Given the description of an element on the screen output the (x, y) to click on. 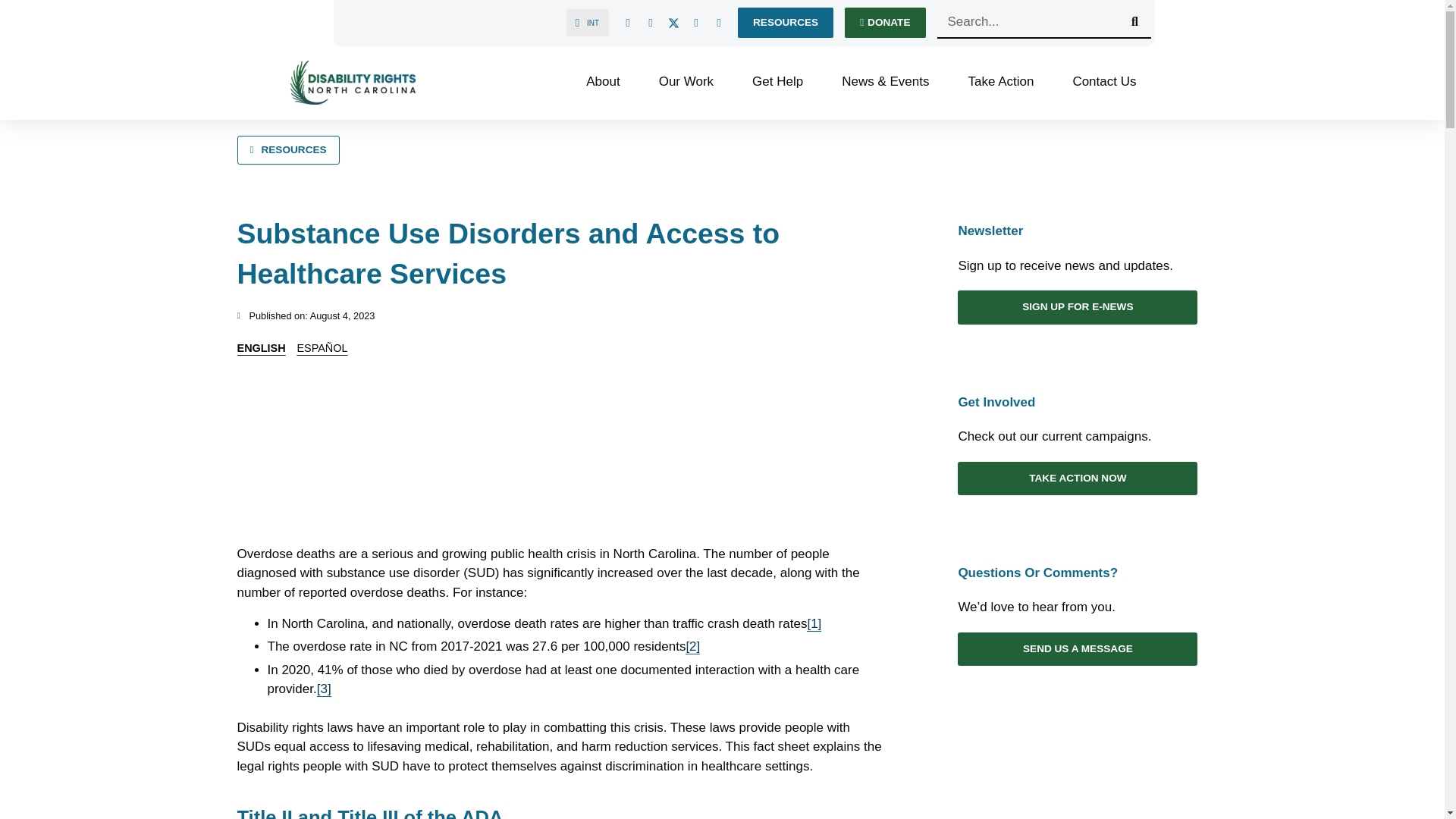
About (609, 81)
Our Work (692, 81)
INT (585, 20)
DONATE (884, 22)
Get Help (783, 81)
RESOURCES (785, 22)
